Given the description of an element on the screen output the (x, y) to click on. 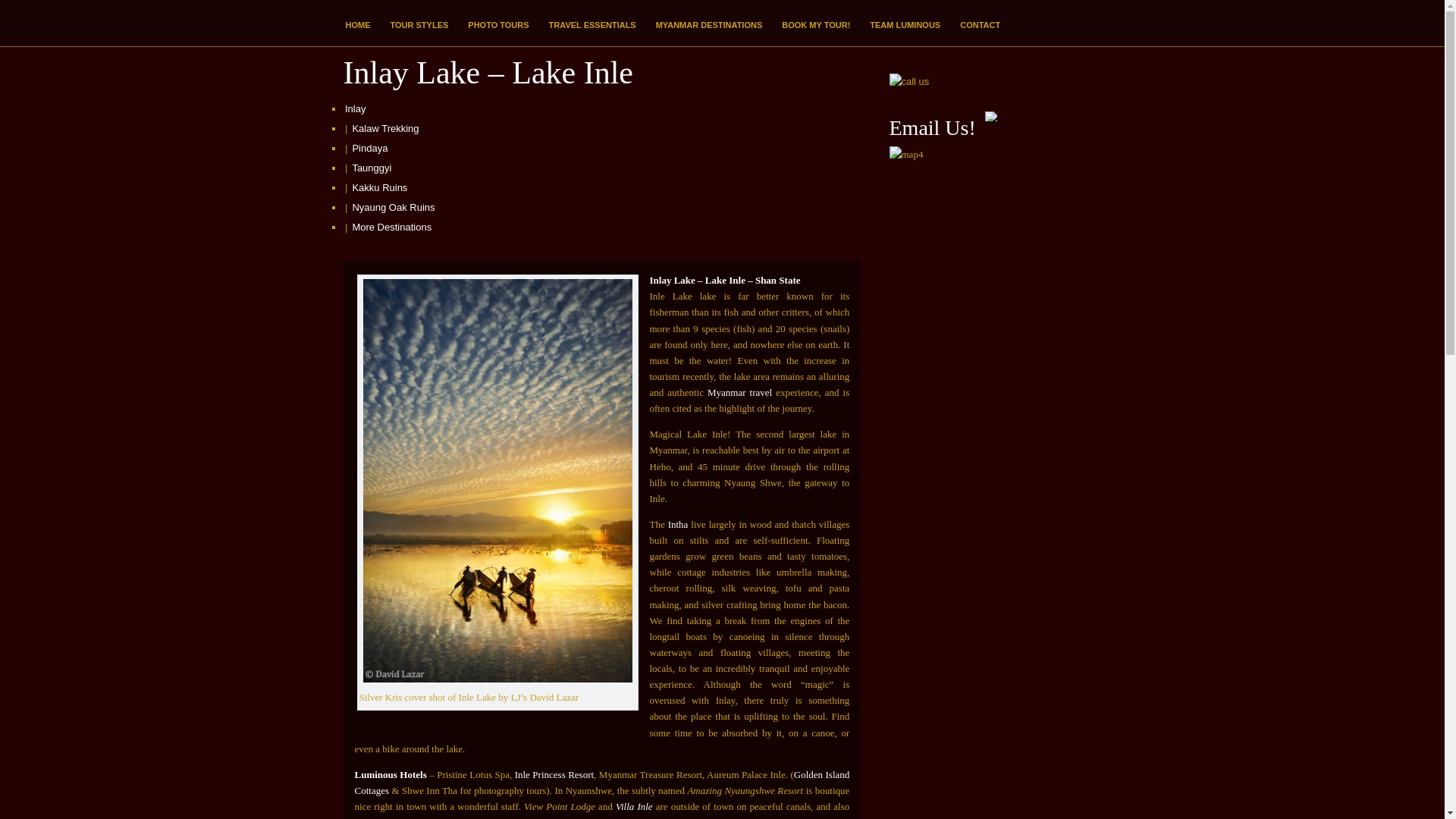
PHOTO TOURS (498, 25)
HOME (357, 25)
BOOK MY TOUR! (815, 25)
TRAVEL ESSENTIALS (592, 25)
TOUR STYLES (419, 25)
TEAM LUMINOUS (905, 25)
MYANMAR DESTINATIONS (709, 25)
Myanmar travel (739, 392)
CONTACT (980, 25)
